Given the description of an element on the screen output the (x, y) to click on. 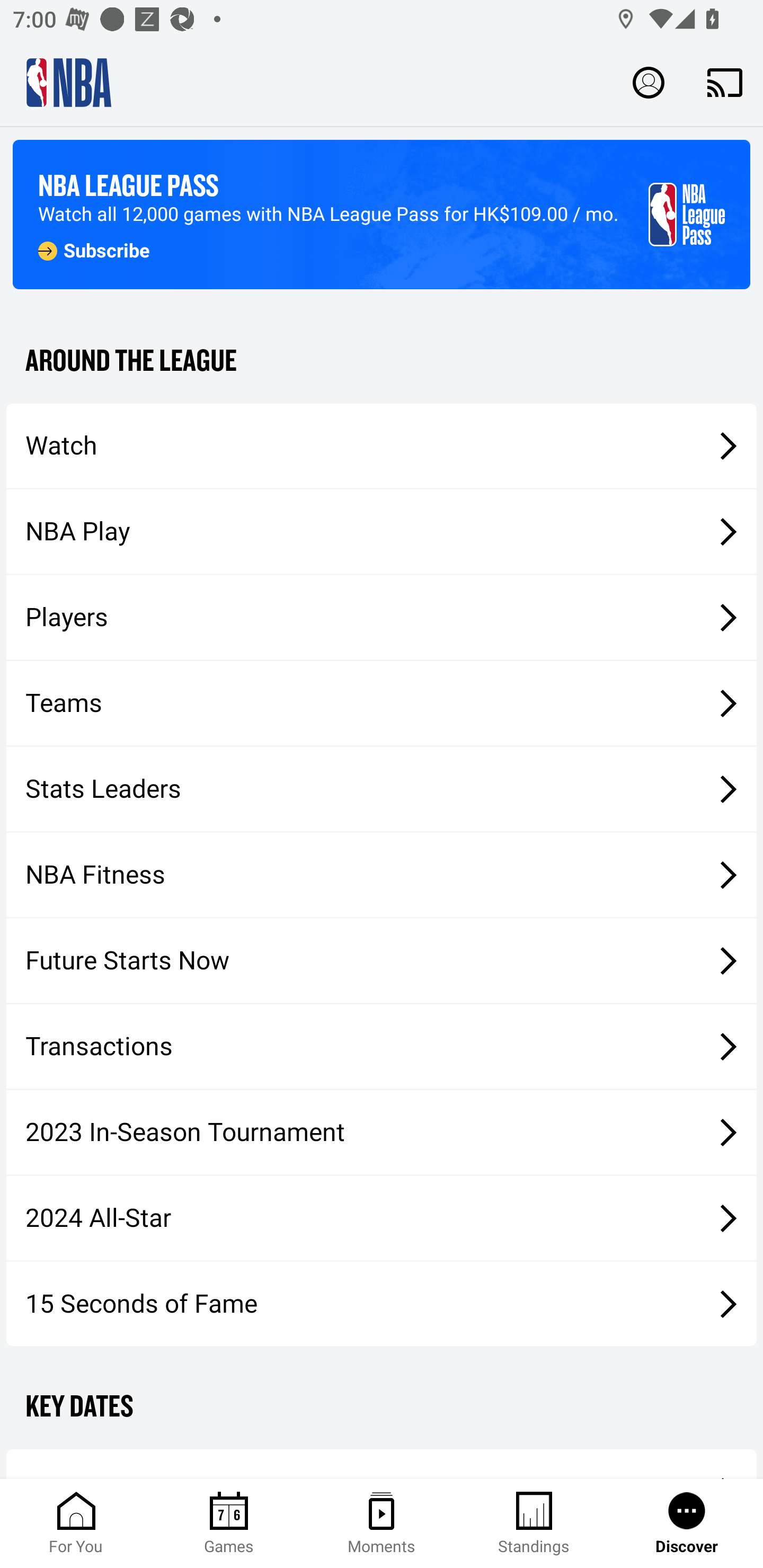
Cast. Disconnected (724, 82)
Profile (648, 81)
Watch (381, 444)
NBA Play (381, 531)
Players (381, 617)
Teams (381, 702)
Stats Leaders (381, 788)
NBA Fitness (381, 874)
Future Starts Now (381, 960)
Transactions (381, 1046)
2023 In-Season Tournament (381, 1131)
2024 All-Star (381, 1218)
15 Seconds of Fame (381, 1303)
For You (76, 1523)
Games (228, 1523)
Moments (381, 1523)
Standings (533, 1523)
